Given the description of an element on the screen output the (x, y) to click on. 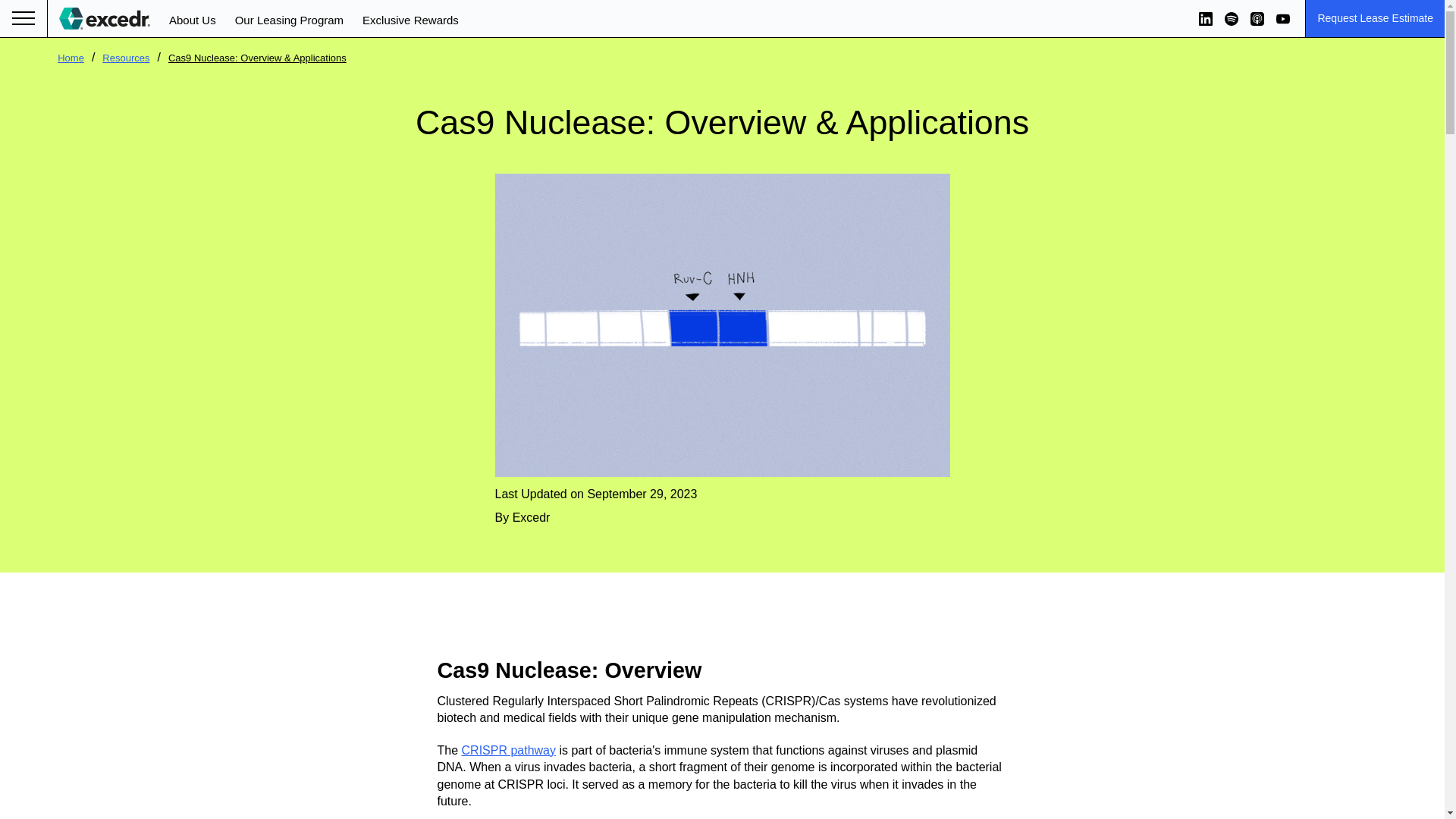
CRISPR pathway (508, 749)
YouTube (1283, 18)
Apple Podcasts (1256, 18)
Apple Podcasts (1256, 18)
Spotify (1231, 18)
Home (71, 57)
Exclusive Rewards (410, 19)
Spotify (1231, 18)
Our Leasing Program (288, 19)
Resources (125, 57)
